Given the description of an element on the screen output the (x, y) to click on. 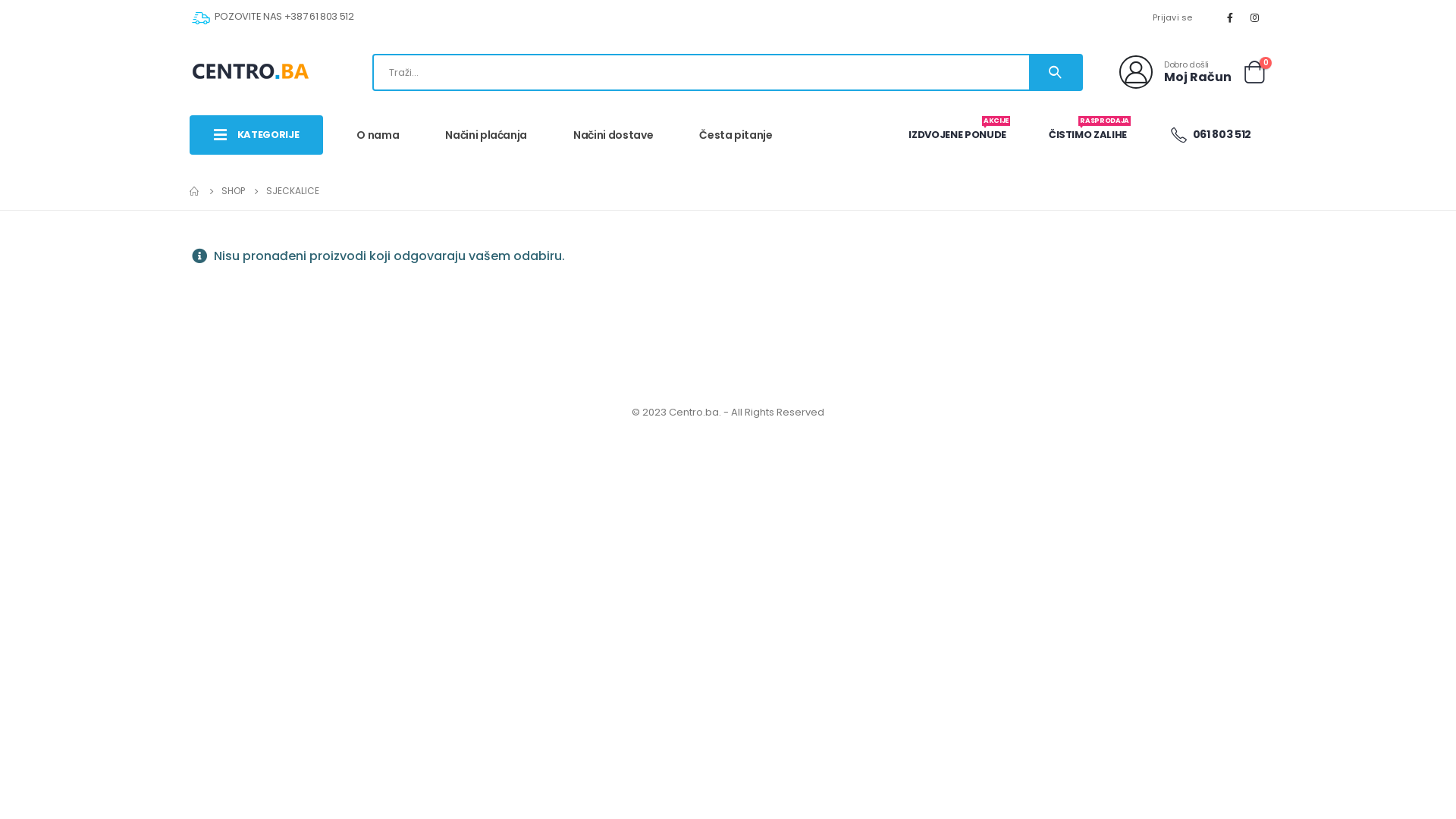
Go to Home Page Element type: hover (194, 190)
Instagram Element type: hover (1254, 16)
O nama Element type: text (377, 134)
SHOP Element type: text (232, 190)
IZDVOJENE PONUDE
AKCIJE Element type: text (956, 134)
Facebook Element type: hover (1229, 16)
061 803 512 Element type: text (1210, 134)
Prijavi se Element type: text (1172, 16)
